Given the description of an element on the screen output the (x, y) to click on. 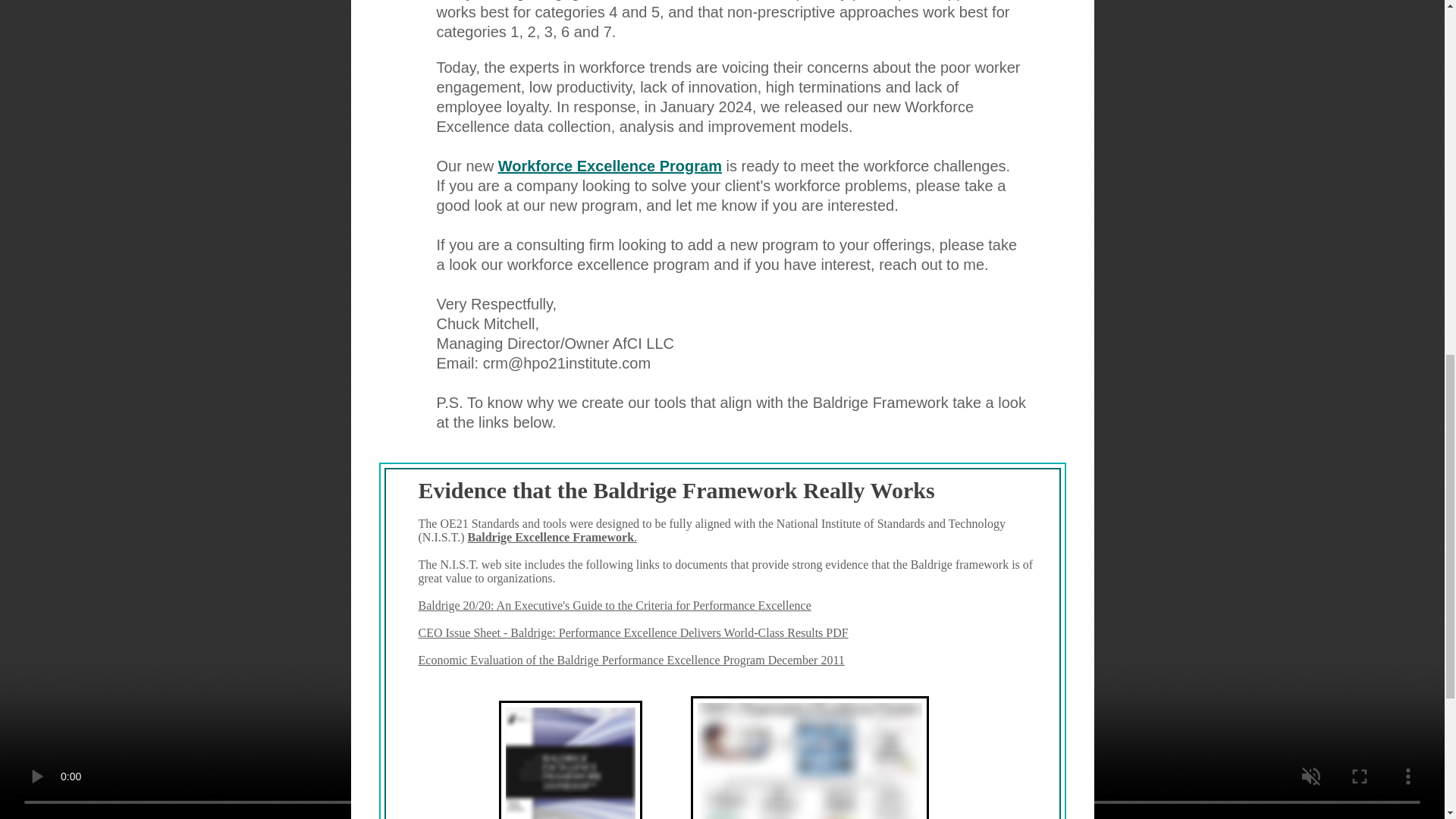
Baldrige Excellence Framework. (552, 536)
Workforce Excellence Program (609, 166)
